Given the description of an element on the screen output the (x, y) to click on. 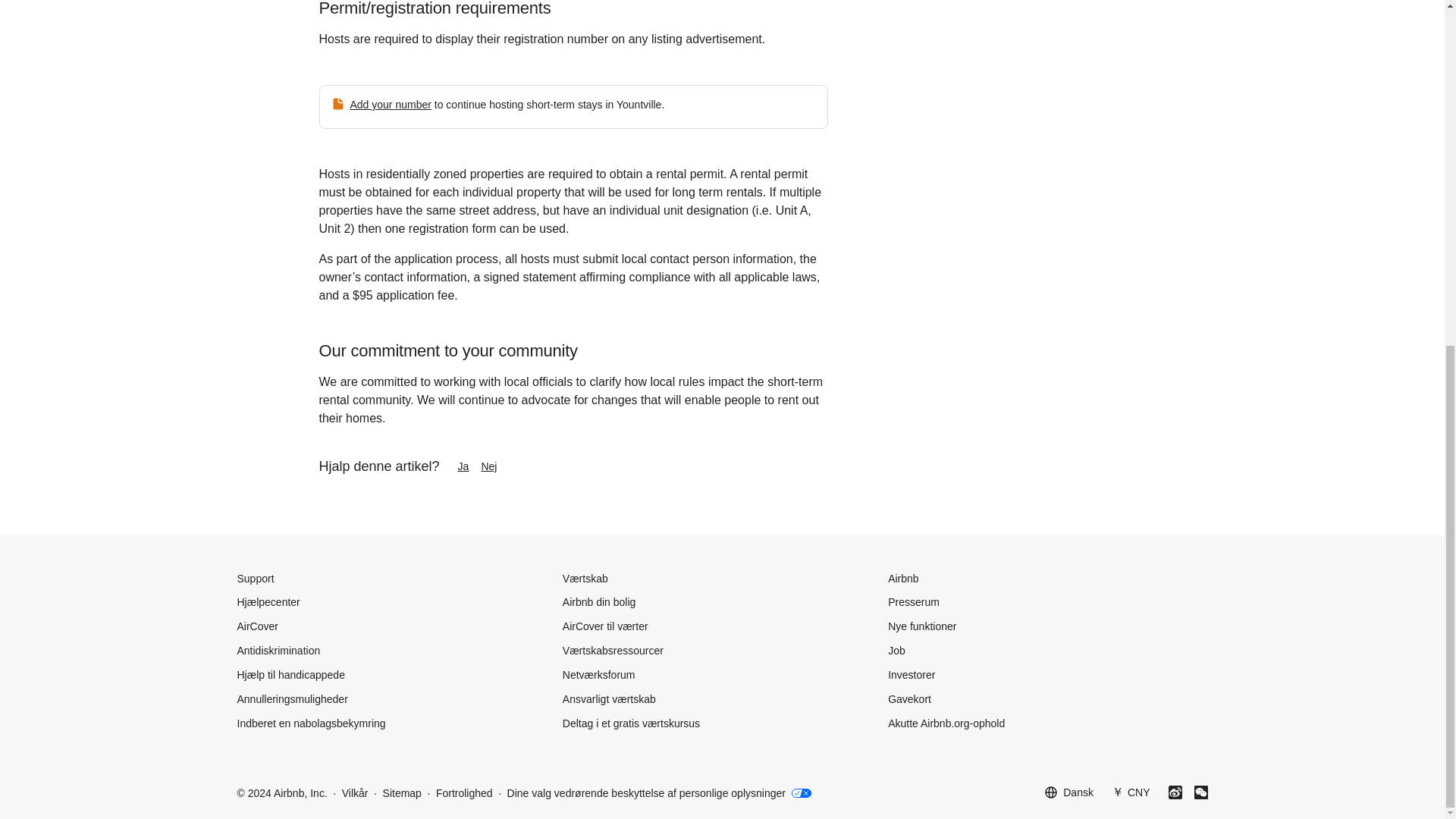
Akutte Airbnb.org-ophold (946, 723)
Investorer (911, 674)
Airbnb din bolig (599, 602)
Job (896, 650)
Nej (499, 466)
Antidiskrimination (277, 650)
Presserum (913, 602)
Gavekort (909, 698)
Annulleringsmuligheder (291, 698)
Indberet en nabolagsbekymring (310, 723)
Nye funktioner (922, 625)
AirCover (256, 625)
Add your number (390, 104)
